Given the description of an element on the screen output the (x, y) to click on. 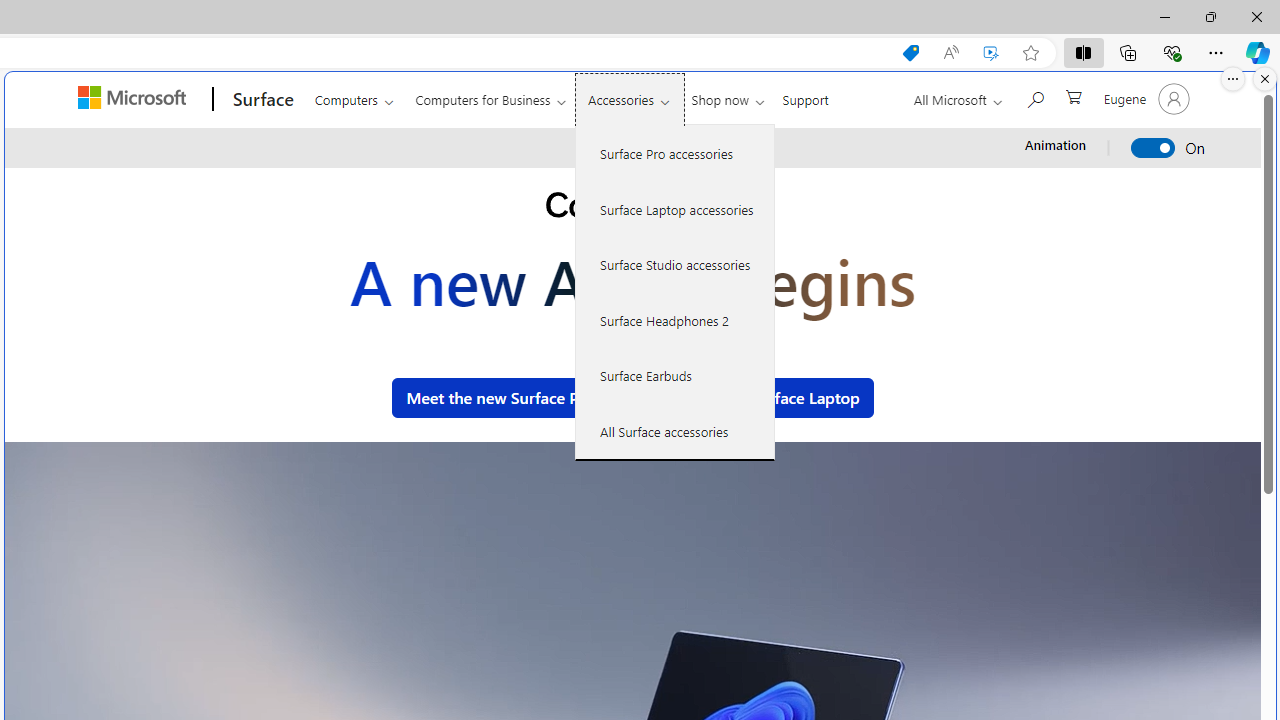
Microsoft (135, 99)
Shopping in Microsoft Edge (910, 53)
Surface Laptop accessories (675, 208)
Surface Headphones 2 (675, 319)
Support (805, 96)
Surface Studio accessories (675, 264)
Copilot+ PC. (632, 207)
Animation On (1153, 147)
Surface Pro accessories (675, 153)
